Given the description of an element on the screen output the (x, y) to click on. 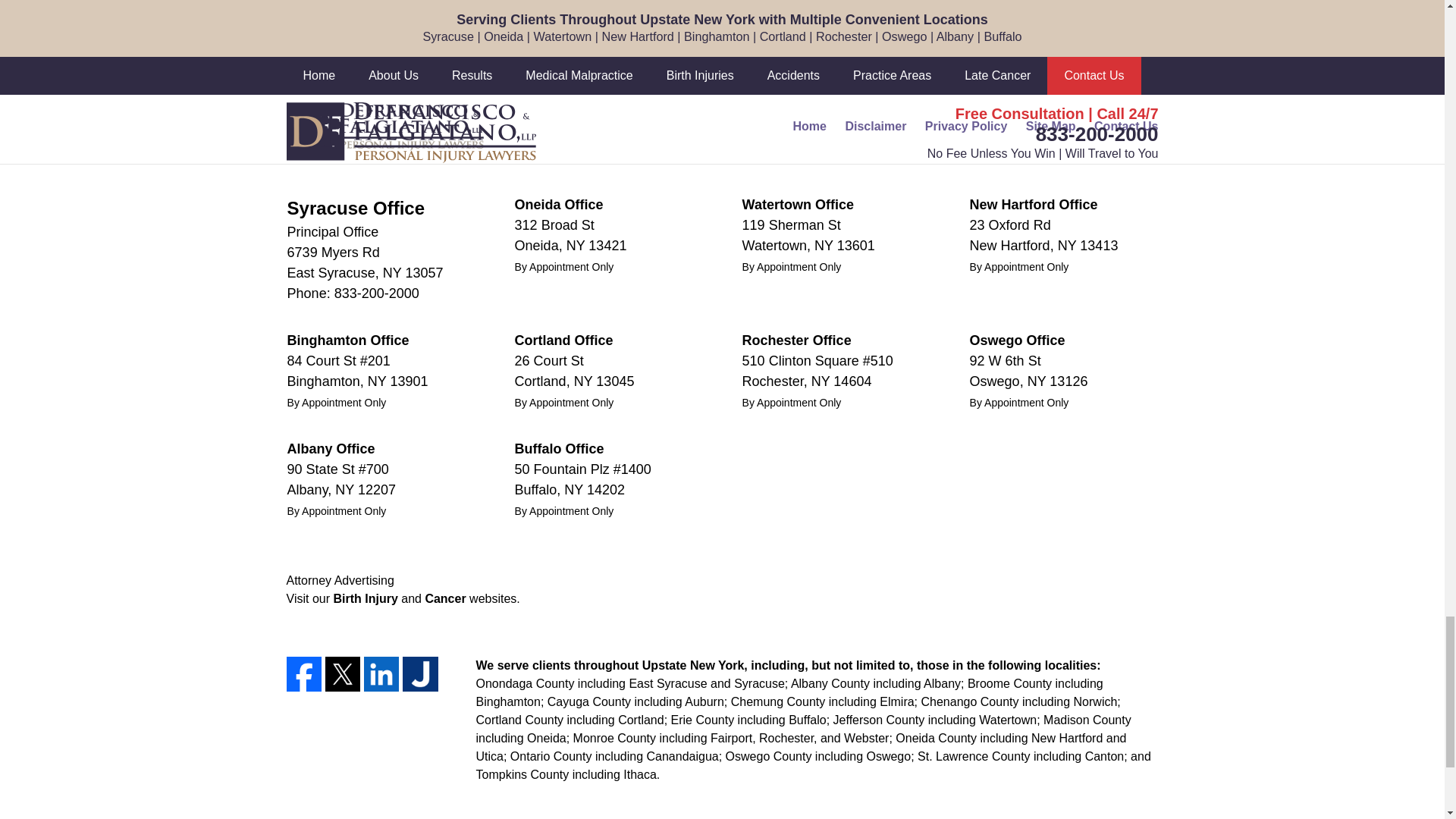
Justia (420, 673)
Facebook (303, 673)
Twitter (341, 673)
LinkedIn (381, 673)
